Given the description of an element on the screen output the (x, y) to click on. 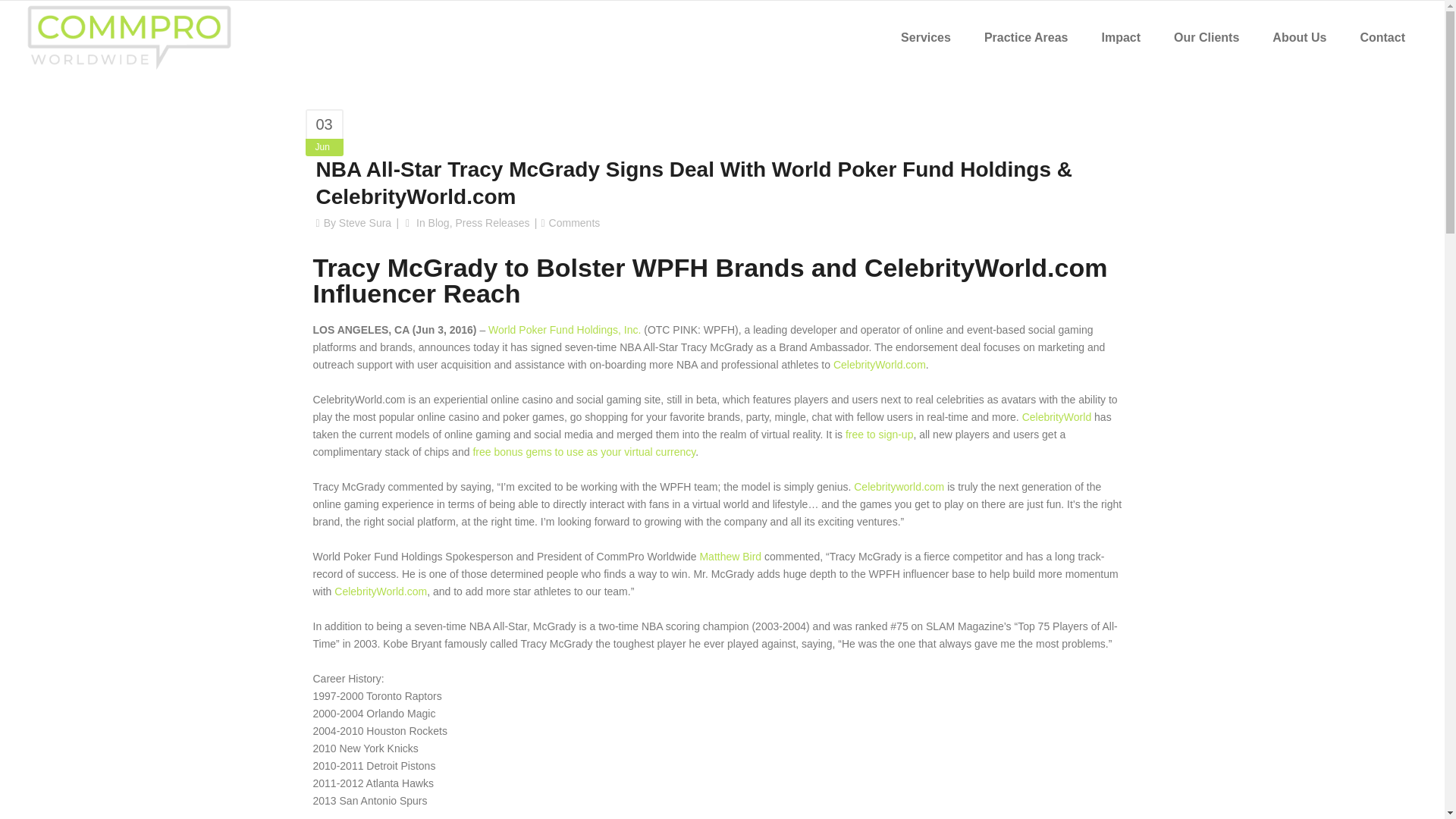
Contact (1382, 38)
About Us (1298, 38)
Practice Areas (1026, 38)
Impact (1121, 38)
Our Clients (1205, 38)
Services (925, 38)
